Given the description of an element on the screen output the (x, y) to click on. 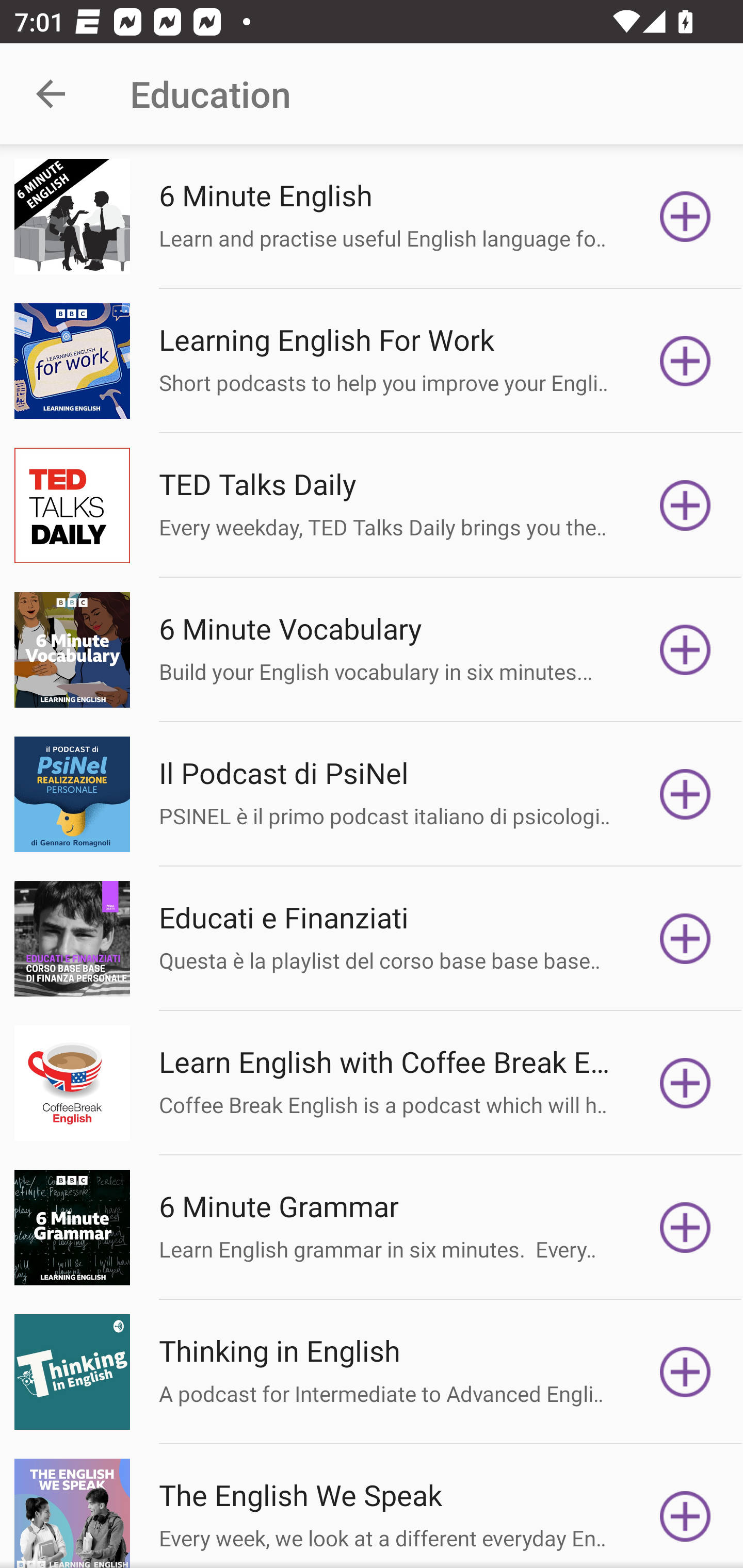
Navigate up (50, 93)
Subscribe (685, 216)
Subscribe (685, 360)
Subscribe (685, 505)
Subscribe (685, 649)
Subscribe (685, 793)
Subscribe (685, 939)
Subscribe (685, 1083)
Subscribe (685, 1227)
Subscribe (685, 1371)
Subscribe (685, 1513)
